Given the description of an element on the screen output the (x, y) to click on. 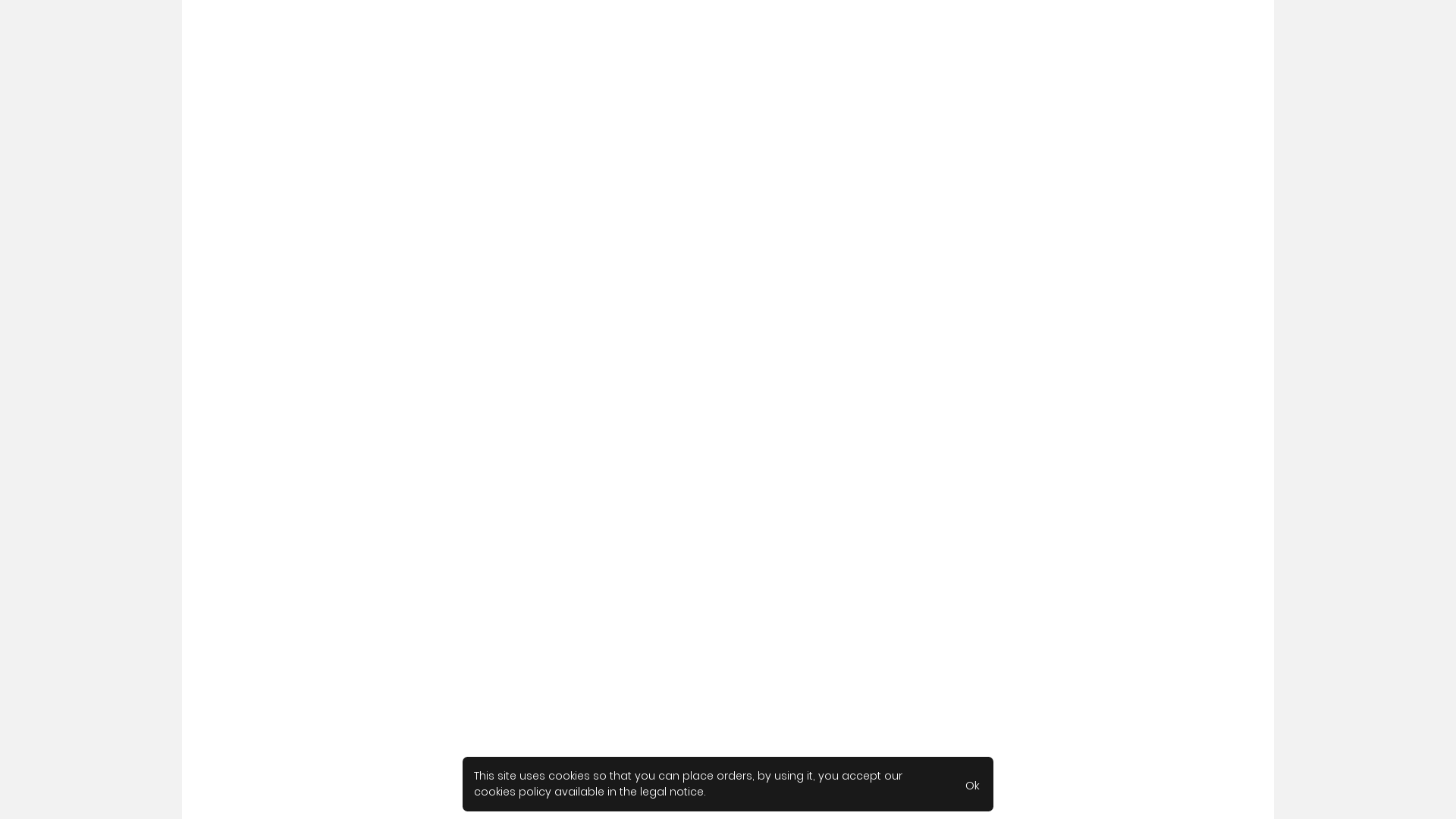
Ok Element type: text (972, 784)
